Given the description of an element on the screen output the (x, y) to click on. 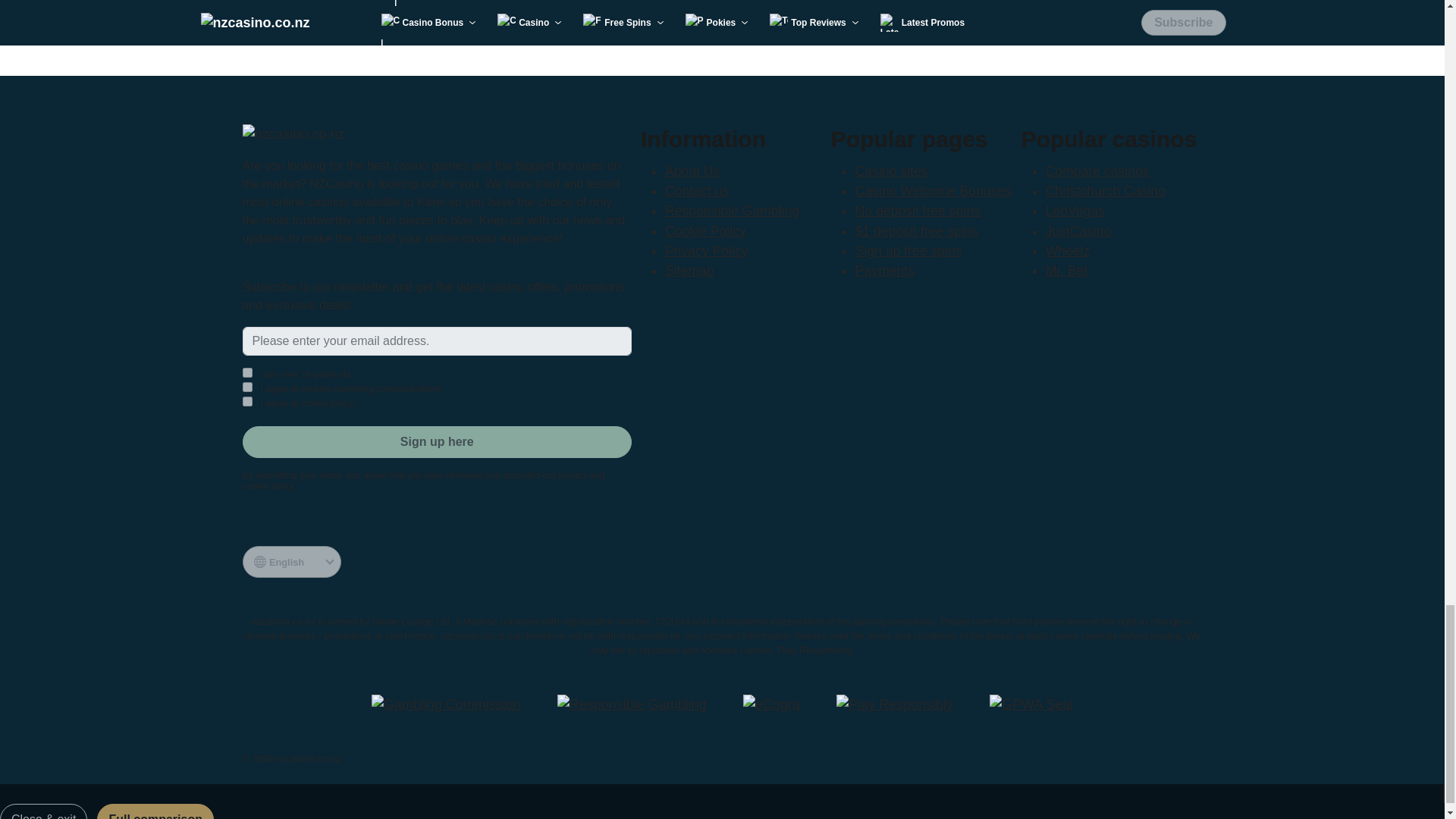
on (247, 372)
on (247, 401)
on (247, 387)
